Given the description of an element on the screen output the (x, y) to click on. 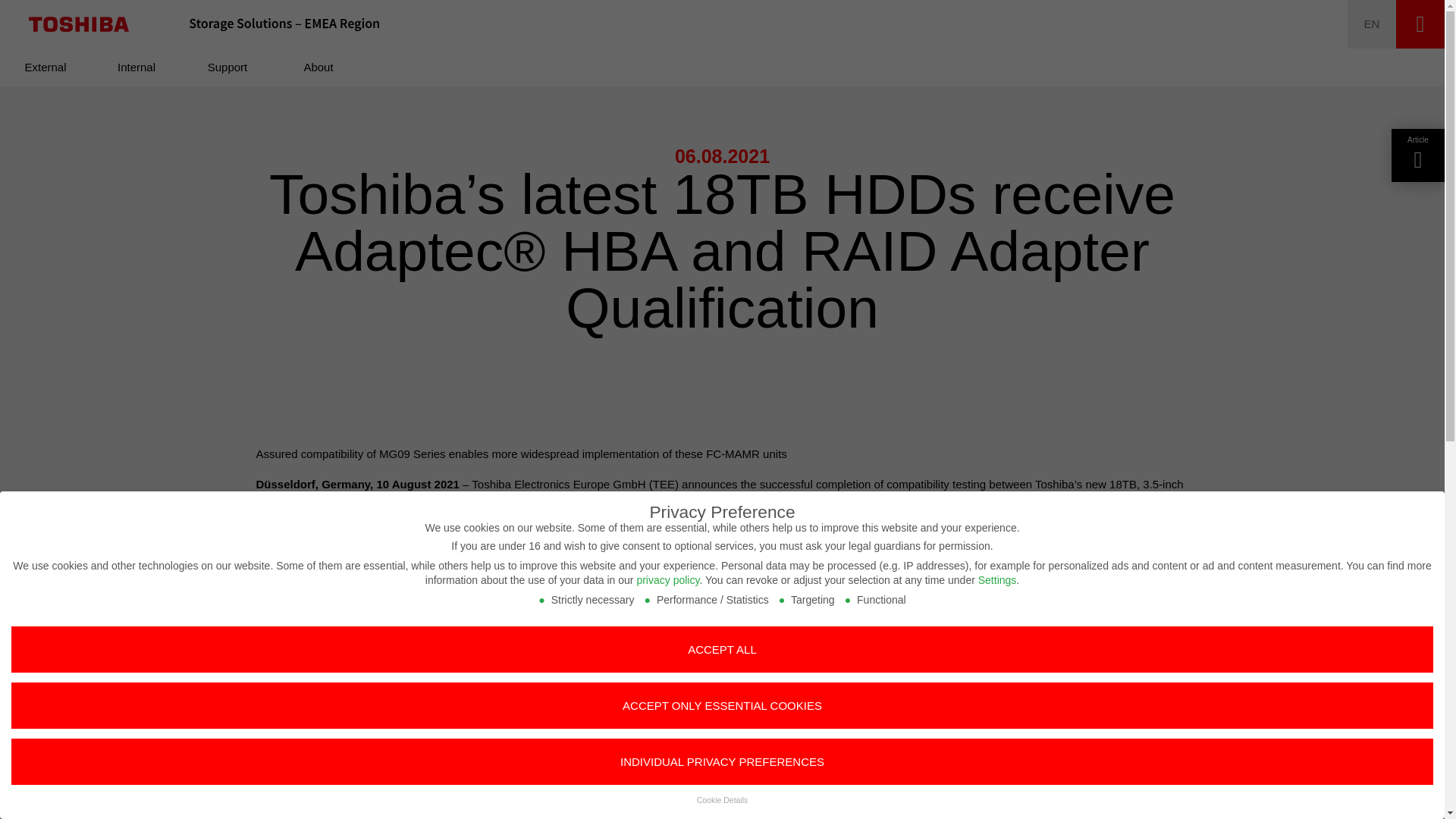
Open Cookie Preferences (32, 799)
English (1372, 24)
EN (1372, 24)
Internal (136, 67)
Support (227, 67)
Toshiba Germany Top Page (79, 23)
About (318, 67)
External (45, 67)
